Given the description of an element on the screen output the (x, y) to click on. 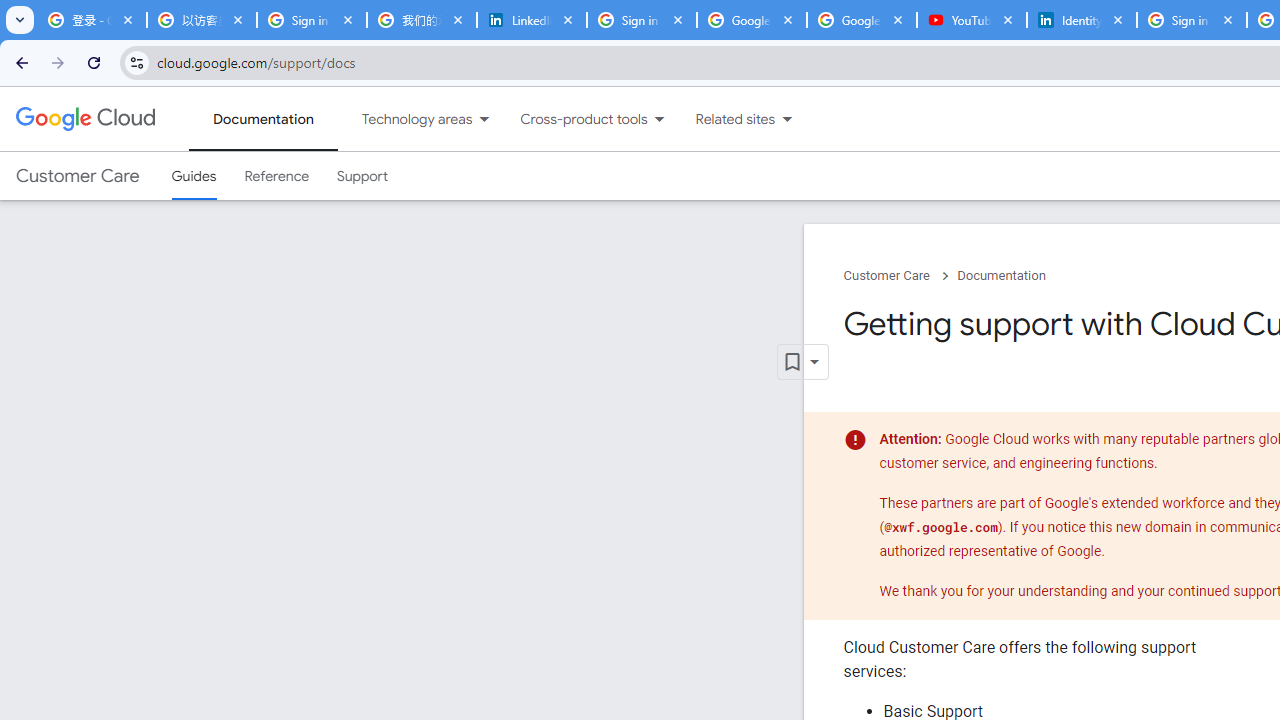
Sign in - Google Accounts (312, 20)
Documentation (1001, 276)
Documentation, selected (263, 119)
Related sites (722, 119)
Reference (276, 175)
Google Cloud (84, 118)
Sign in - Google Accounts (1191, 20)
Dropdown menu for Technology areas (484, 119)
Cross-product tools (571, 119)
